Given the description of an element on the screen output the (x, y) to click on. 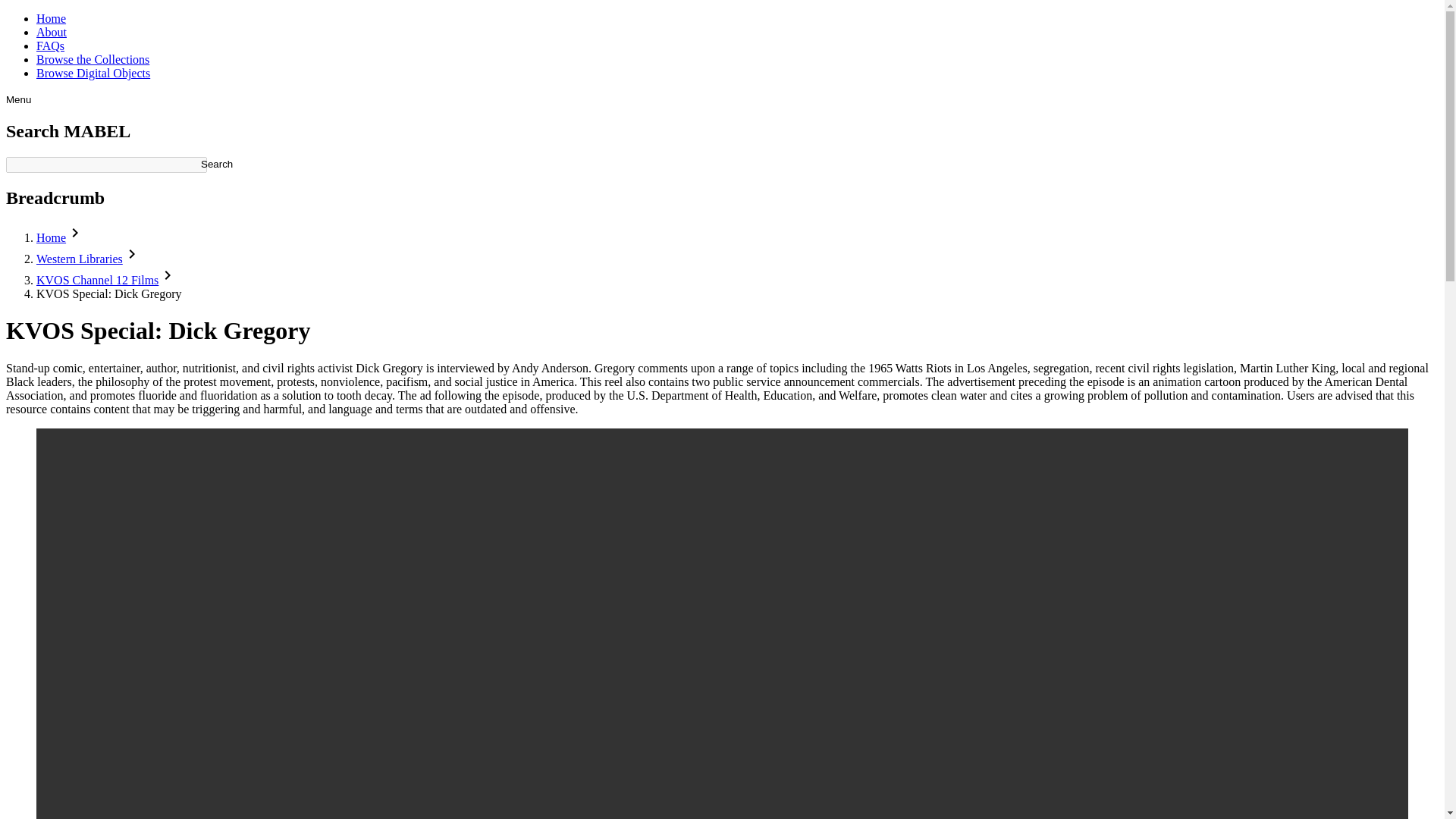
Browse Digital Objects (92, 72)
See all Digital Objects (92, 72)
Western Libraries (79, 258)
Browse the Collections (92, 59)
FAQs (50, 45)
Home (50, 237)
About (51, 31)
Search (216, 163)
Search (216, 163)
Menu (17, 99)
Home (50, 18)
KVOS Channel 12 Films (97, 279)
